Given the description of an element on the screen output the (x, y) to click on. 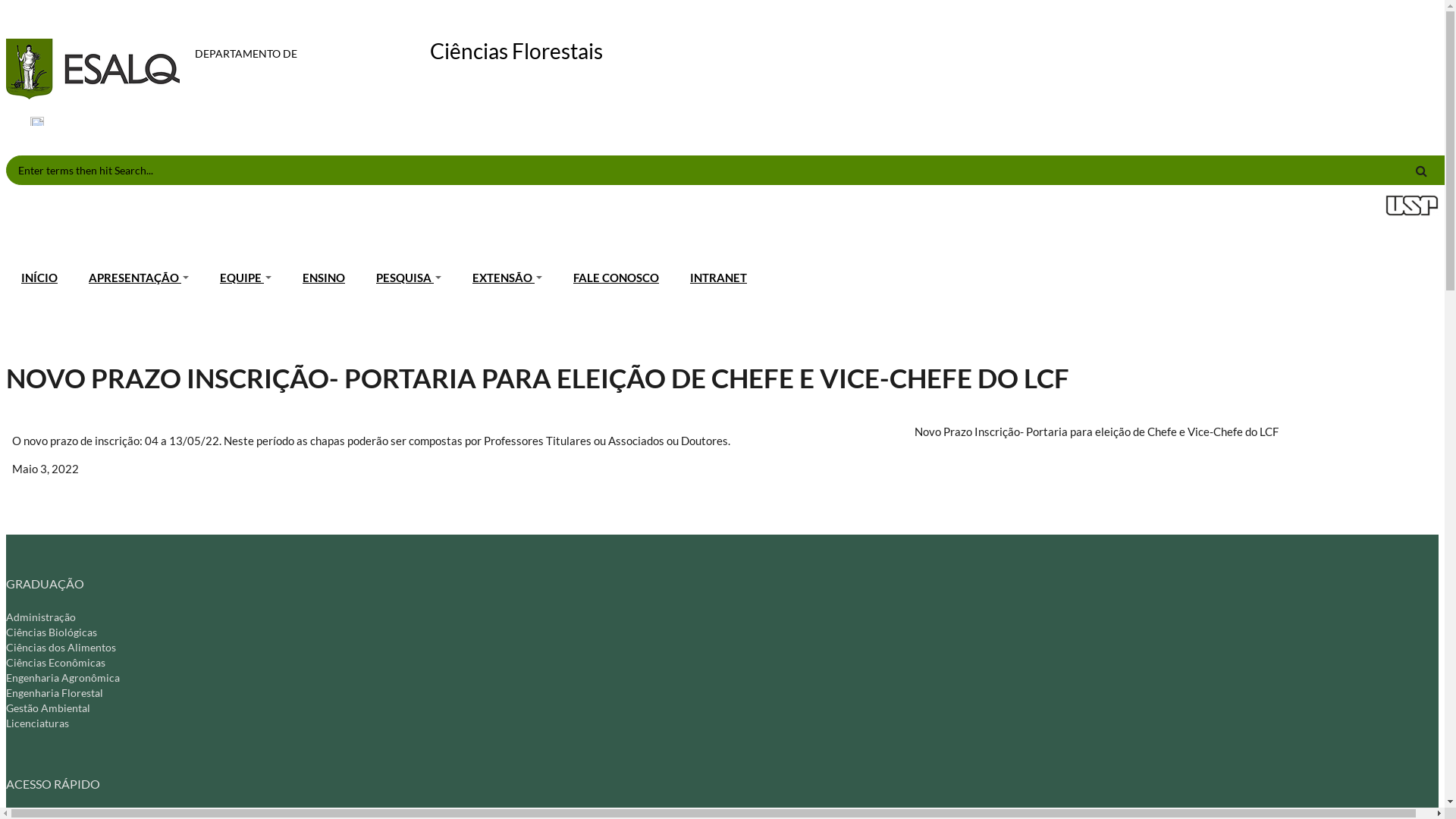
FALE CONOSCO Element type: text (616, 277)
PESQUISA Element type: text (408, 277)
INTRANET Element type: text (718, 277)
EQUIPE Element type: text (245, 277)
Licenciaturas Element type: text (37, 722)
ENSINO Element type: text (323, 277)
Engenharia Florestal Element type: text (54, 692)
